Given the description of an element on the screen output the (x, y) to click on. 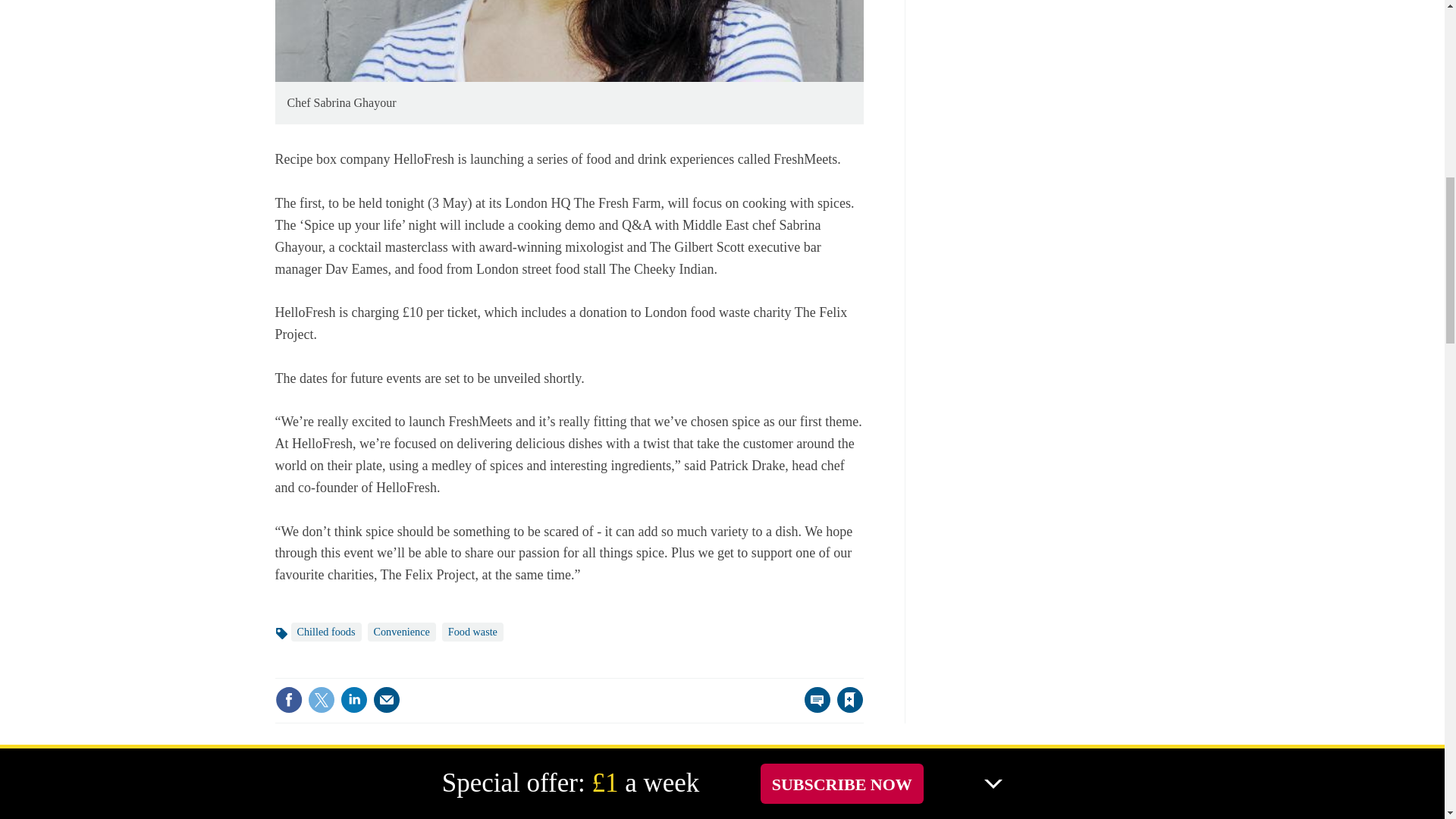
Email this article (386, 699)
Share this on Twitter (320, 699)
No comments (812, 708)
Share this on Linked in (352, 699)
Share this on Facebook (288, 699)
